Given the description of an element on the screen output the (x, y) to click on. 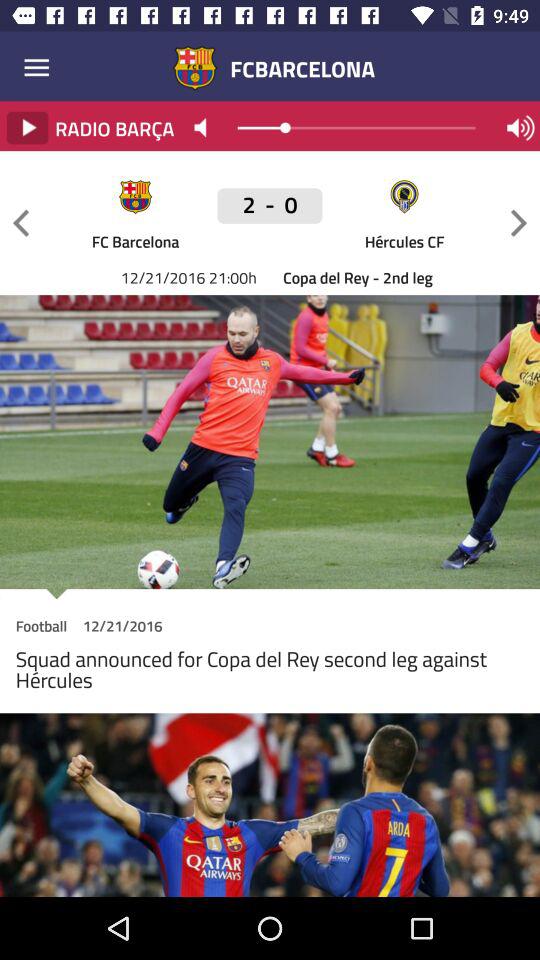
turn off item above the 12 21 2016 (21, 222)
